Given the description of an element on the screen output the (x, y) to click on. 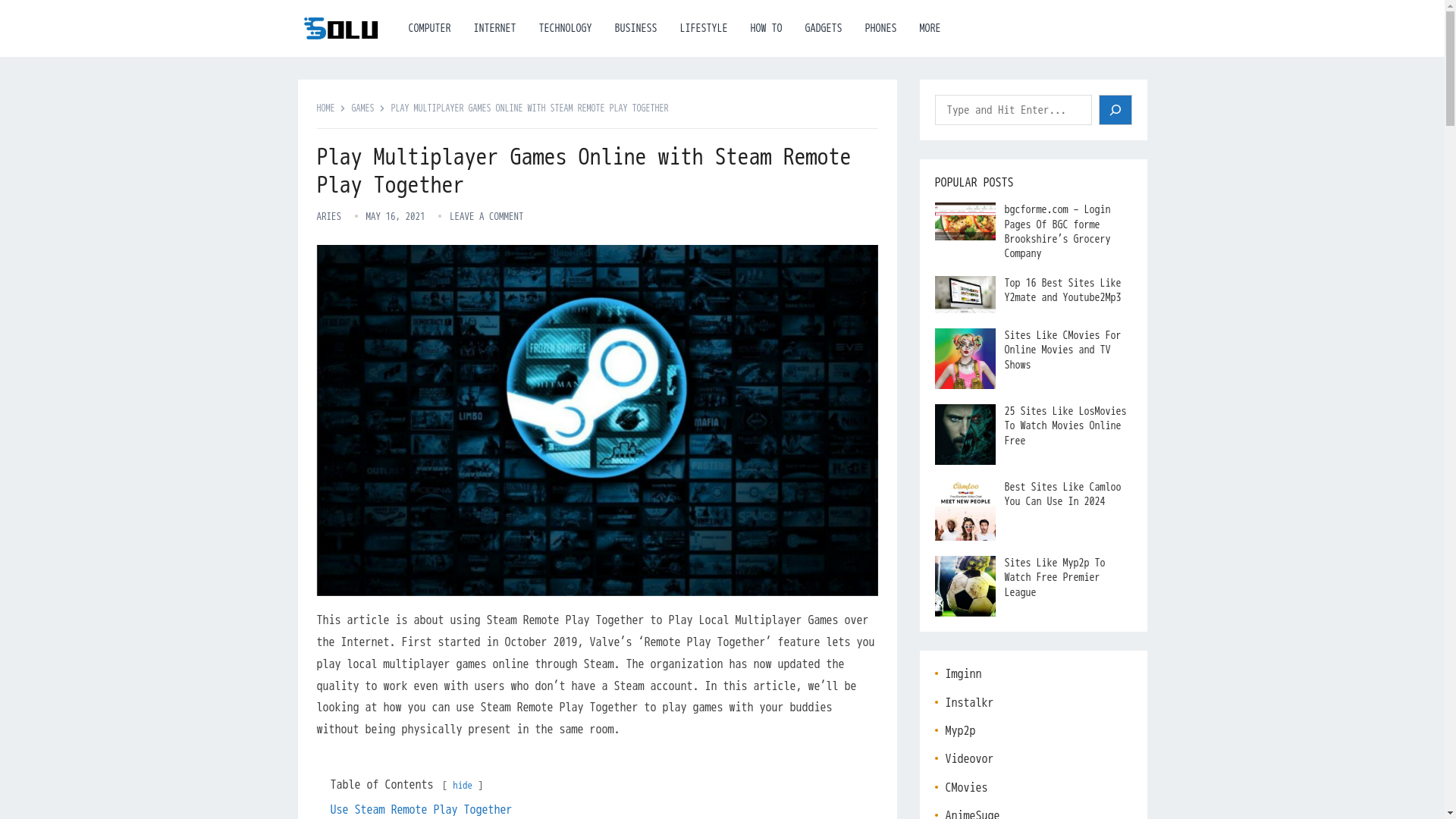
LIFESTYLE (703, 28)
BUSINESS (636, 28)
COMPUTER (430, 28)
INTERNET (495, 28)
ARIES (329, 215)
HOW TO (765, 28)
View all posts in Games (368, 108)
HOME (331, 108)
GAMES (368, 108)
PHONES (880, 28)
GADGETS (823, 28)
Use Steam Remote Play Together (421, 809)
Posts by Aries (329, 215)
hide (461, 785)
TECHNOLOGY (565, 28)
